Given the description of an element on the screen output the (x, y) to click on. 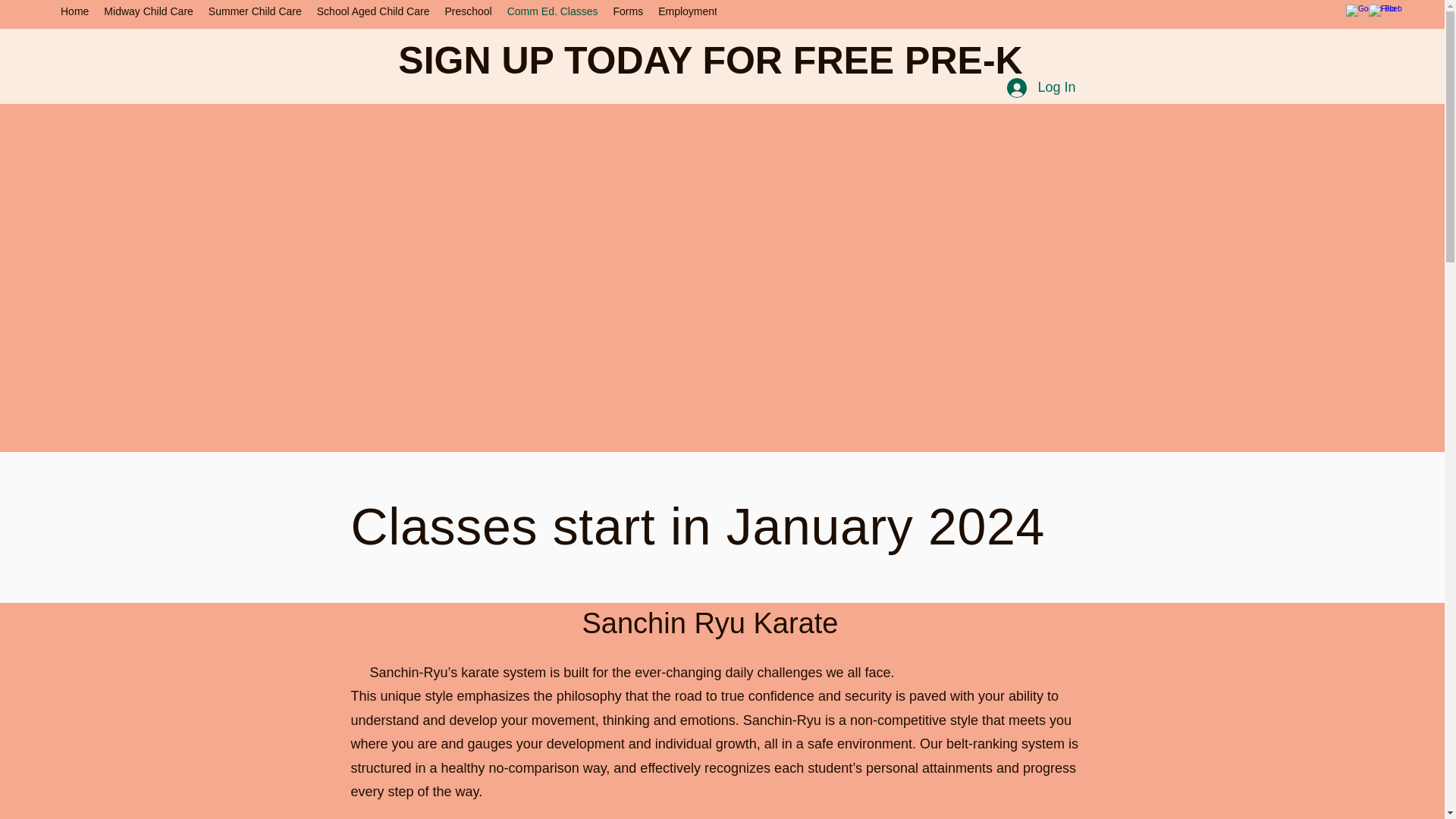
Midway Child Care (148, 12)
Employment (687, 12)
Summer Child Care (254, 12)
Log In (1040, 87)
School Aged Child Care (373, 12)
Preschool (467, 12)
Home (74, 12)
Forms (627, 12)
Comm Ed. Classes (552, 12)
